Given the description of an element on the screen output the (x, y) to click on. 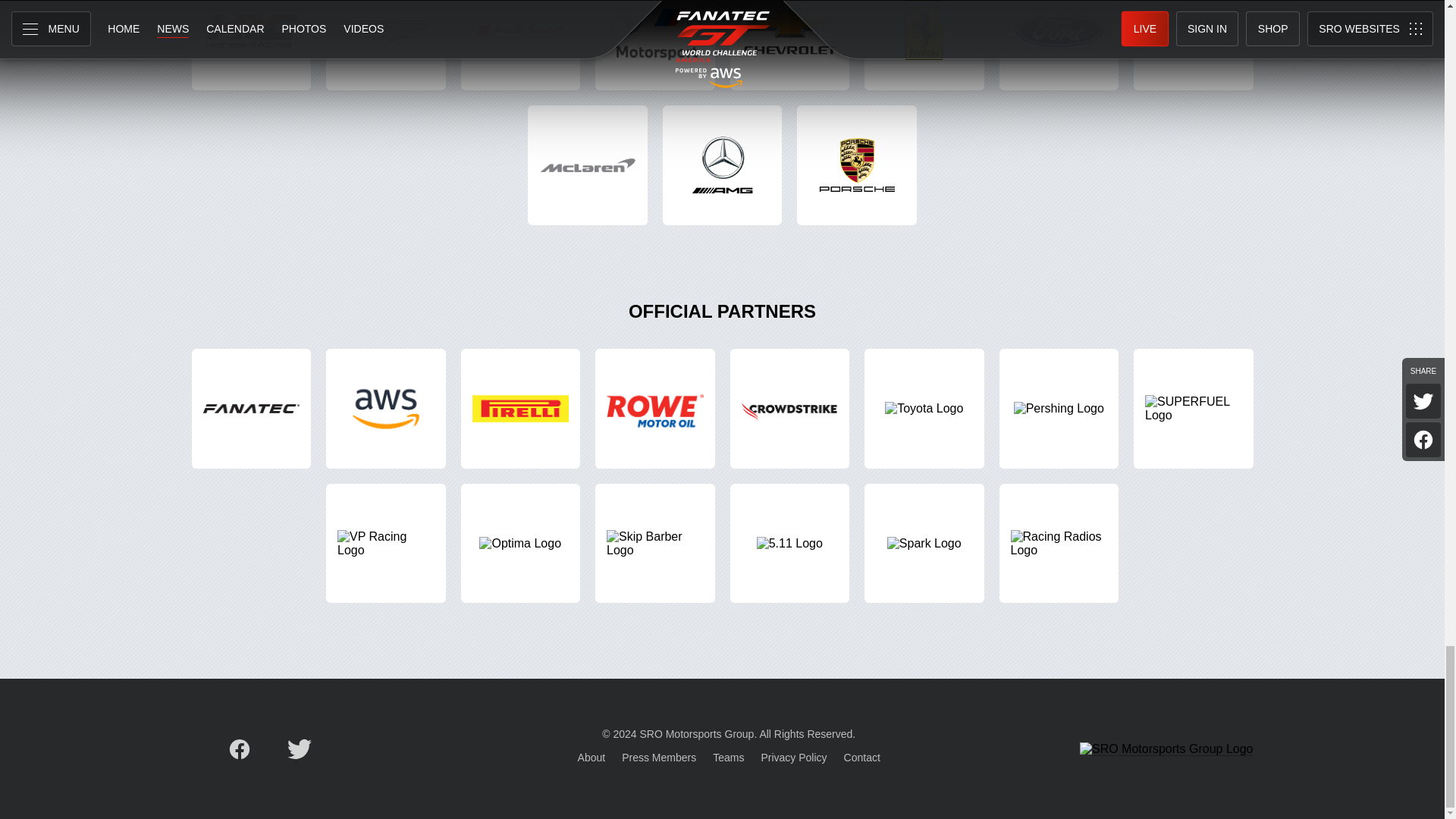
VP Racing (385, 543)
Fanatec (250, 408)
BMW (654, 45)
CrowdStrike (788, 408)
Toyota (924, 408)
Pershing (1058, 408)
Ferrari (924, 45)
Chevrolet (788, 45)
Amazon Web Services (385, 408)
Audi Sport (520, 45)
